Given the description of an element on the screen output the (x, y) to click on. 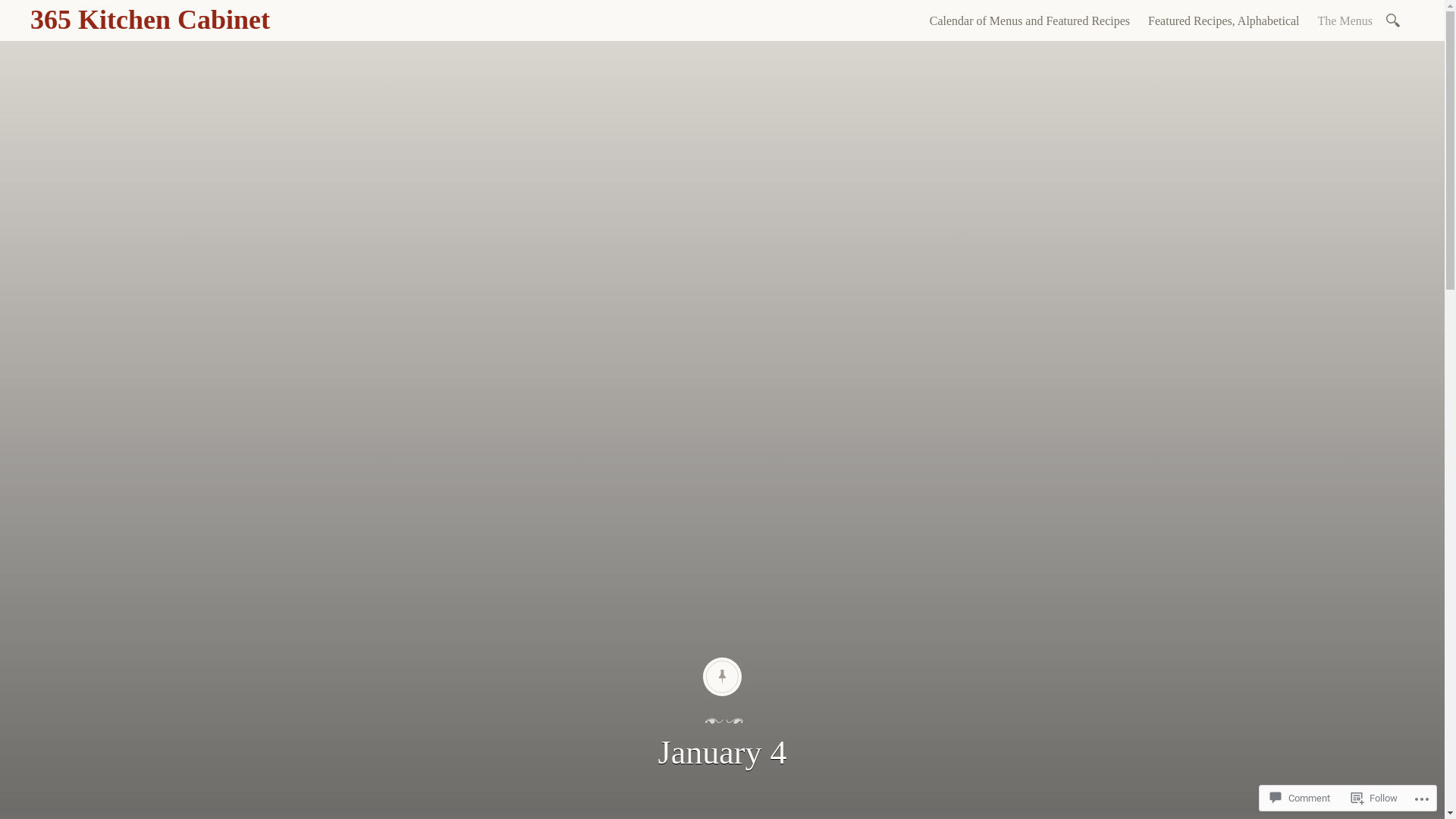
365 Kitchen Cabinet Element type: text (149, 19)
Calendar of Menus and Featured Recipes Element type: text (1029, 20)
Featured Recipes, Alphabetical Element type: text (1223, 20)
Comment Element type: text (1300, 797)
Follow Element type: text (1374, 797)
The Menus Element type: text (1345, 20)
Search Element type: text (11, 9)
